Given the description of an element on the screen output the (x, y) to click on. 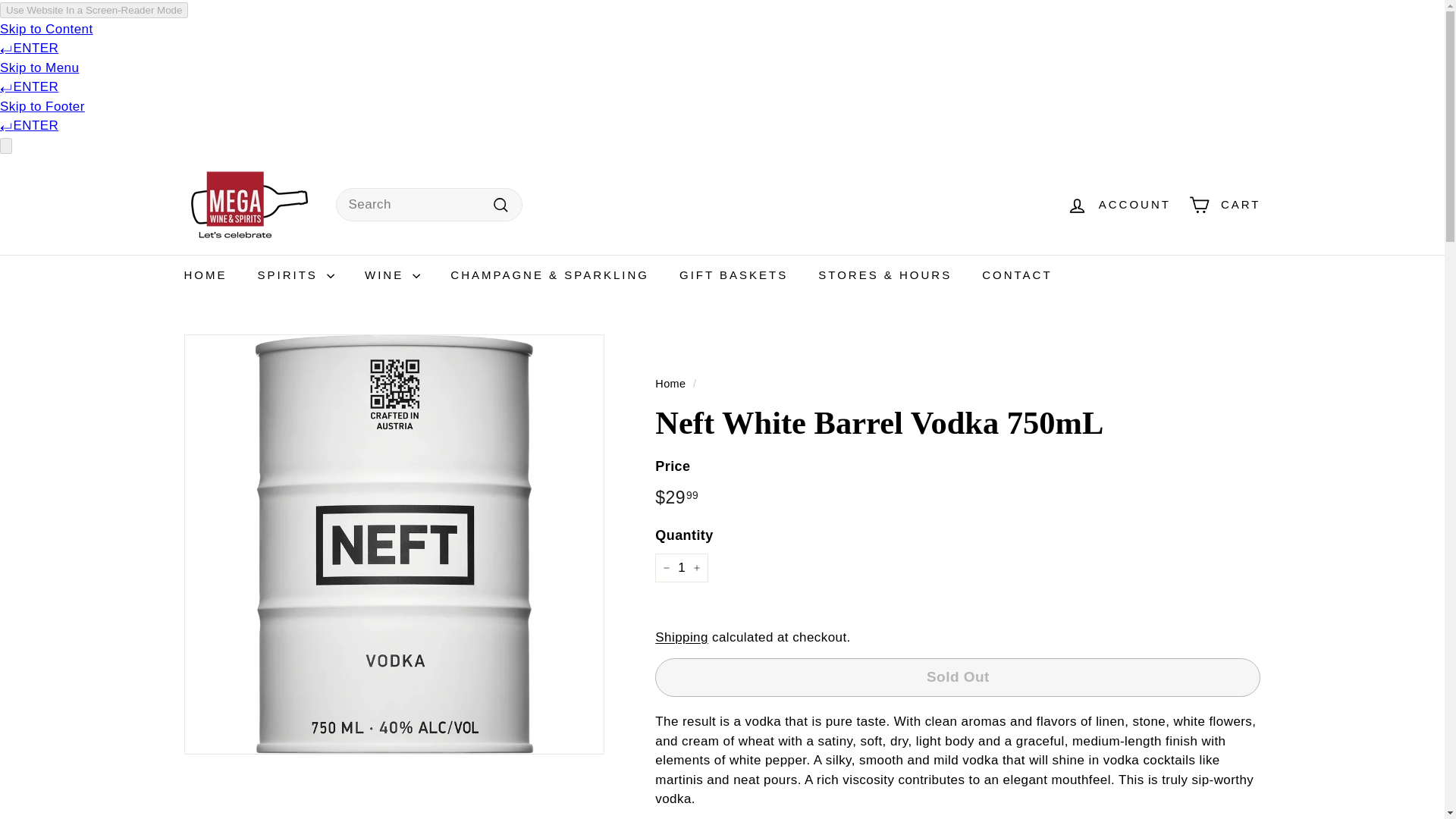
Search (500, 204)
GIFT BASKETS (733, 275)
ACCOUNT (1118, 203)
1 (681, 567)
HOME (204, 275)
CONTACT (1016, 275)
Back to the frontpage (670, 383)
CART (1224, 203)
